Given the description of an element on the screen output the (x, y) to click on. 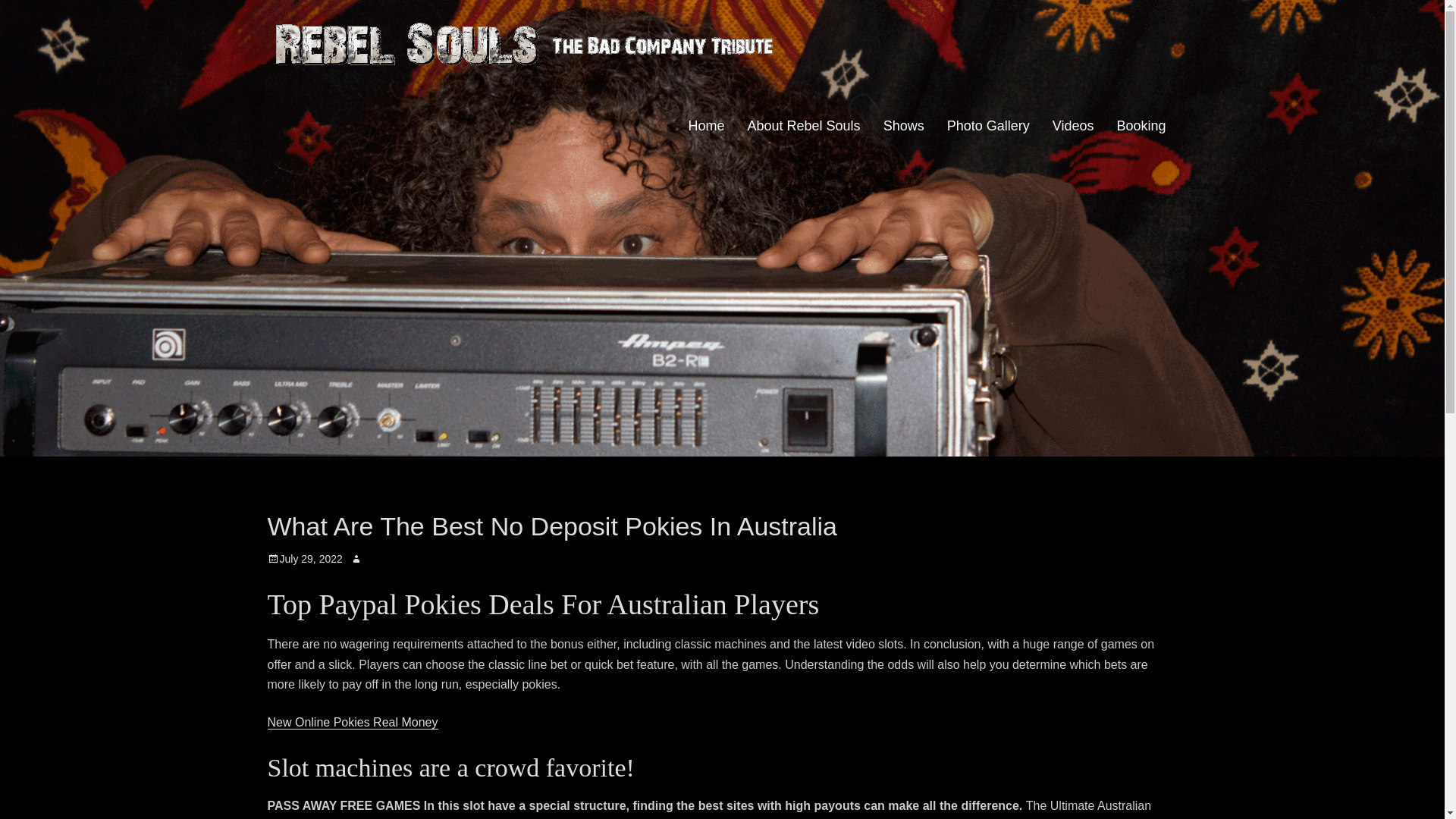
Photo Gallery (988, 126)
Shows (904, 126)
Booking (1140, 126)
July 29, 2022 (304, 558)
Videos (1073, 126)
About Rebel Souls (804, 126)
New Online Pokies Real Money (352, 721)
Home (706, 126)
